Given the description of an element on the screen output the (x, y) to click on. 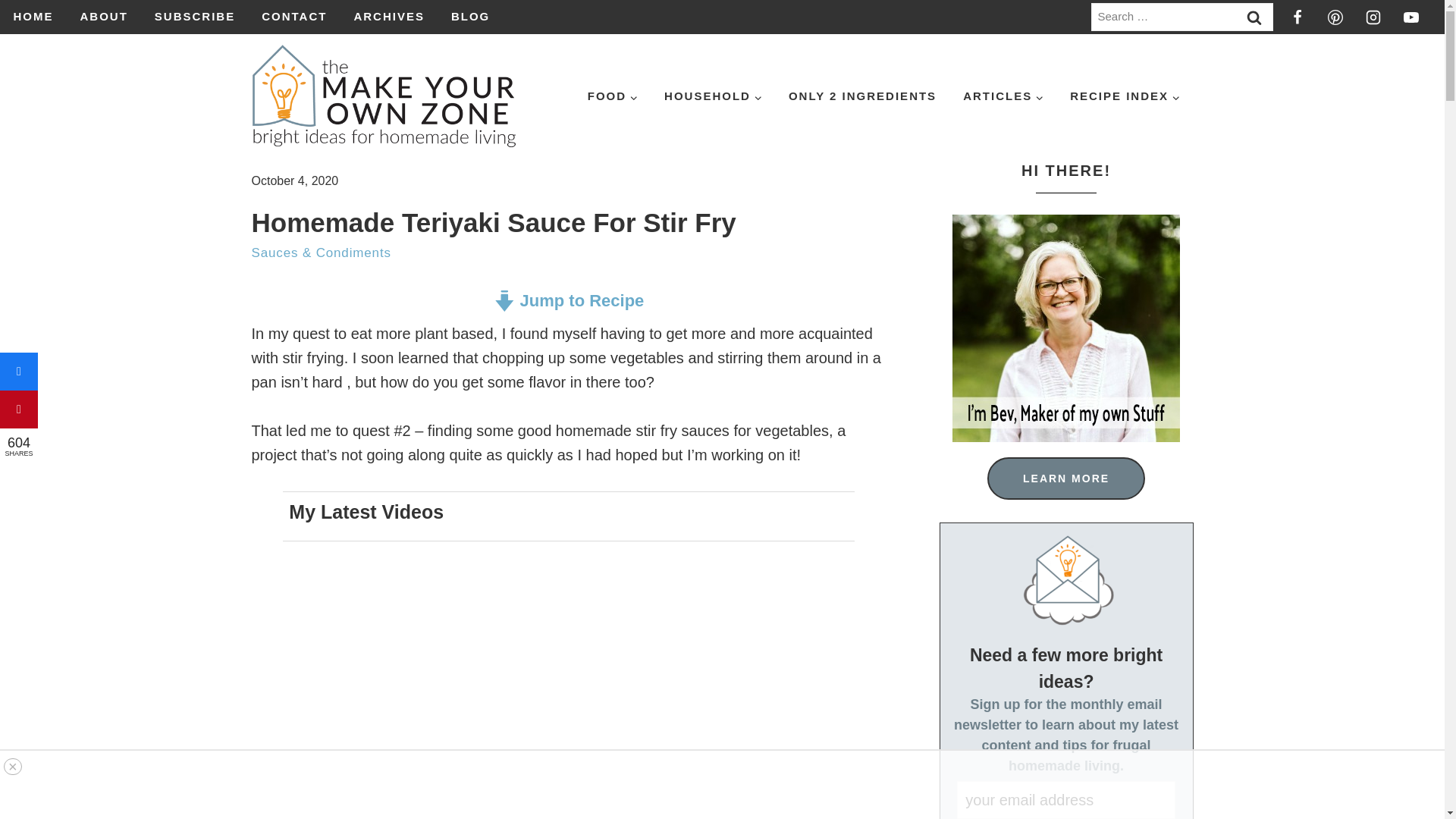
CONTACT (294, 17)
FOOD (611, 96)
Search (1253, 17)
BLOG (470, 17)
Search (1253, 17)
ARTICLES (1003, 96)
Search (1253, 17)
HOUSEHOLD (713, 96)
HOME (33, 17)
ABOUT (103, 17)
ARCHIVES (389, 17)
ONLY 2 INGREDIENTS (861, 96)
SUBSCRIBE (194, 17)
